Given the description of an element on the screen output the (x, y) to click on. 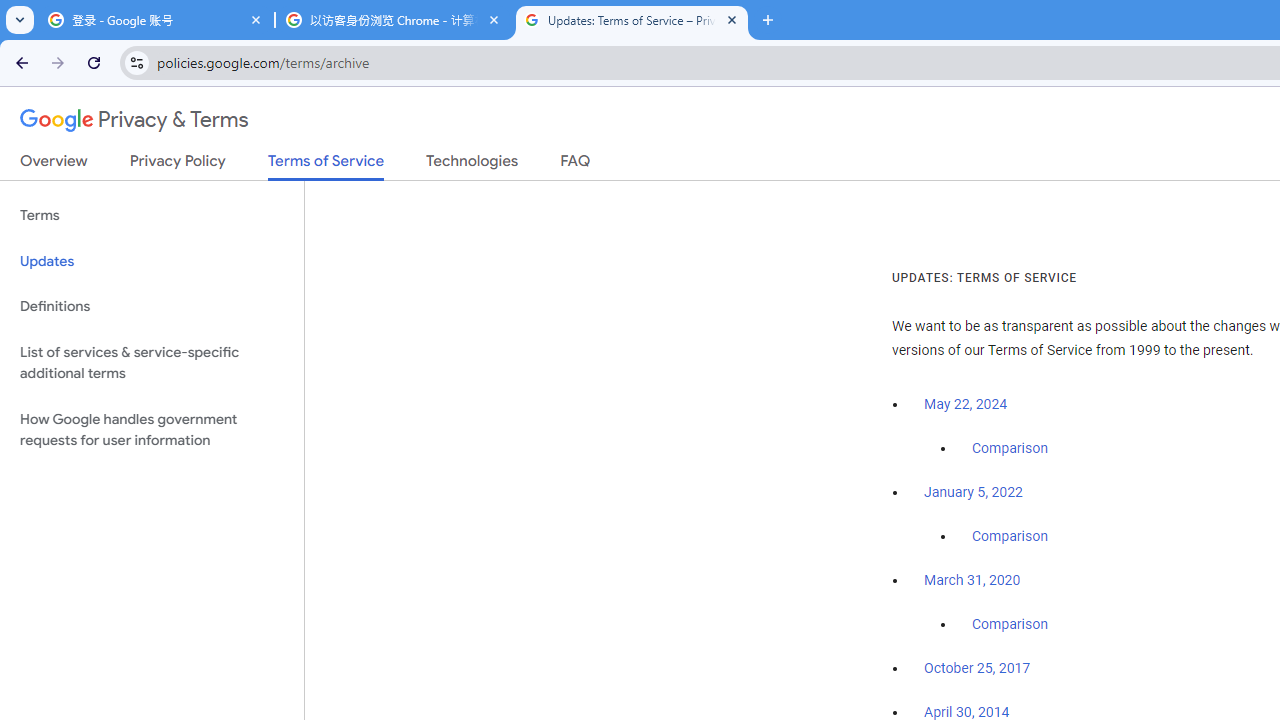
How Google handles government requests for user information (152, 429)
Comparison (1009, 625)
March 31, 2020 (972, 580)
